Given the description of an element on the screen output the (x, y) to click on. 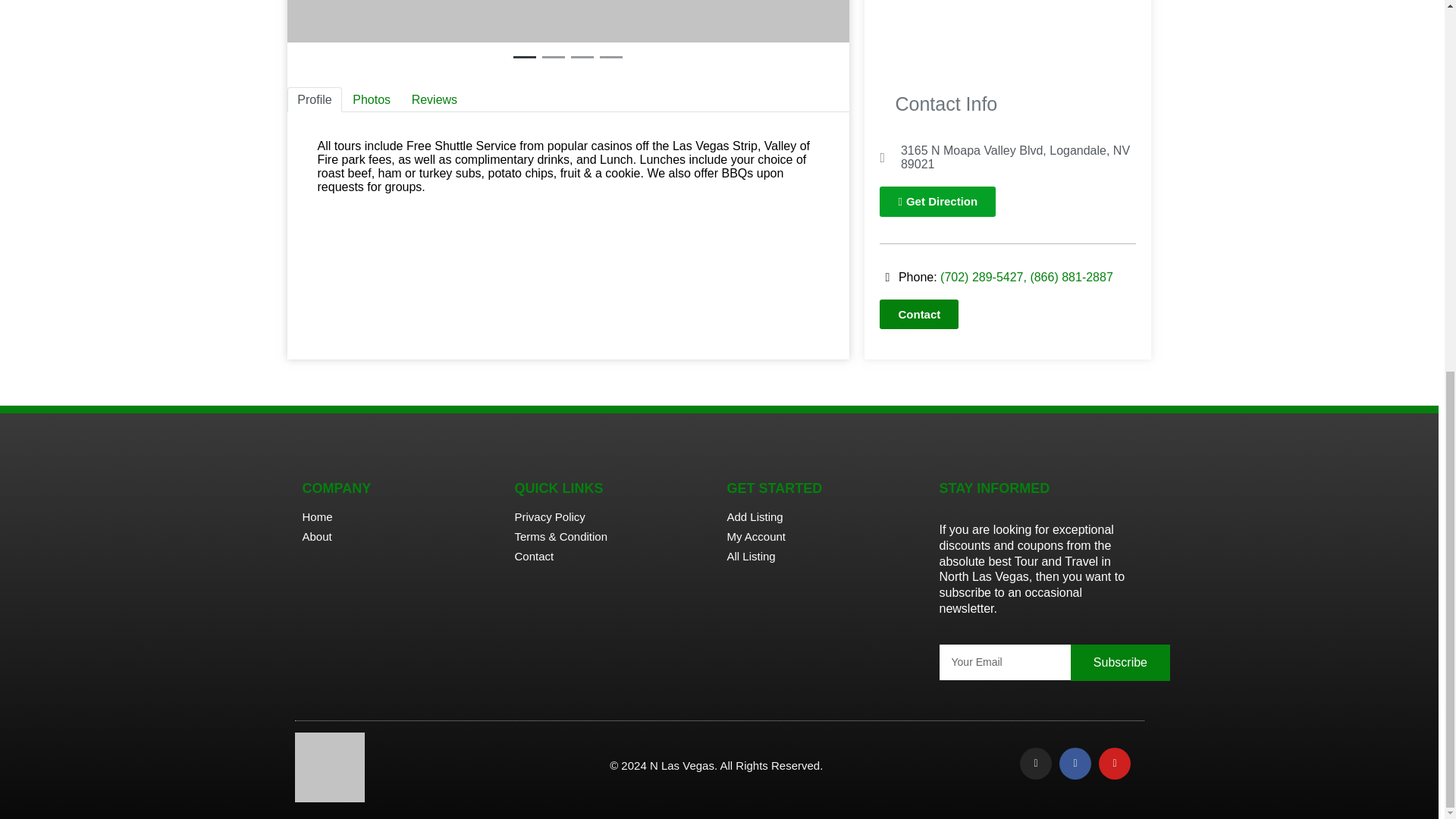
Next (806, 34)
Contact (918, 314)
Photos (371, 99)
Profile (314, 99)
About (400, 535)
Profile (314, 99)
Reviews (434, 99)
Photos (371, 99)
Get Direction (937, 201)
Reviews (434, 99)
